Given the description of an element on the screen output the (x, y) to click on. 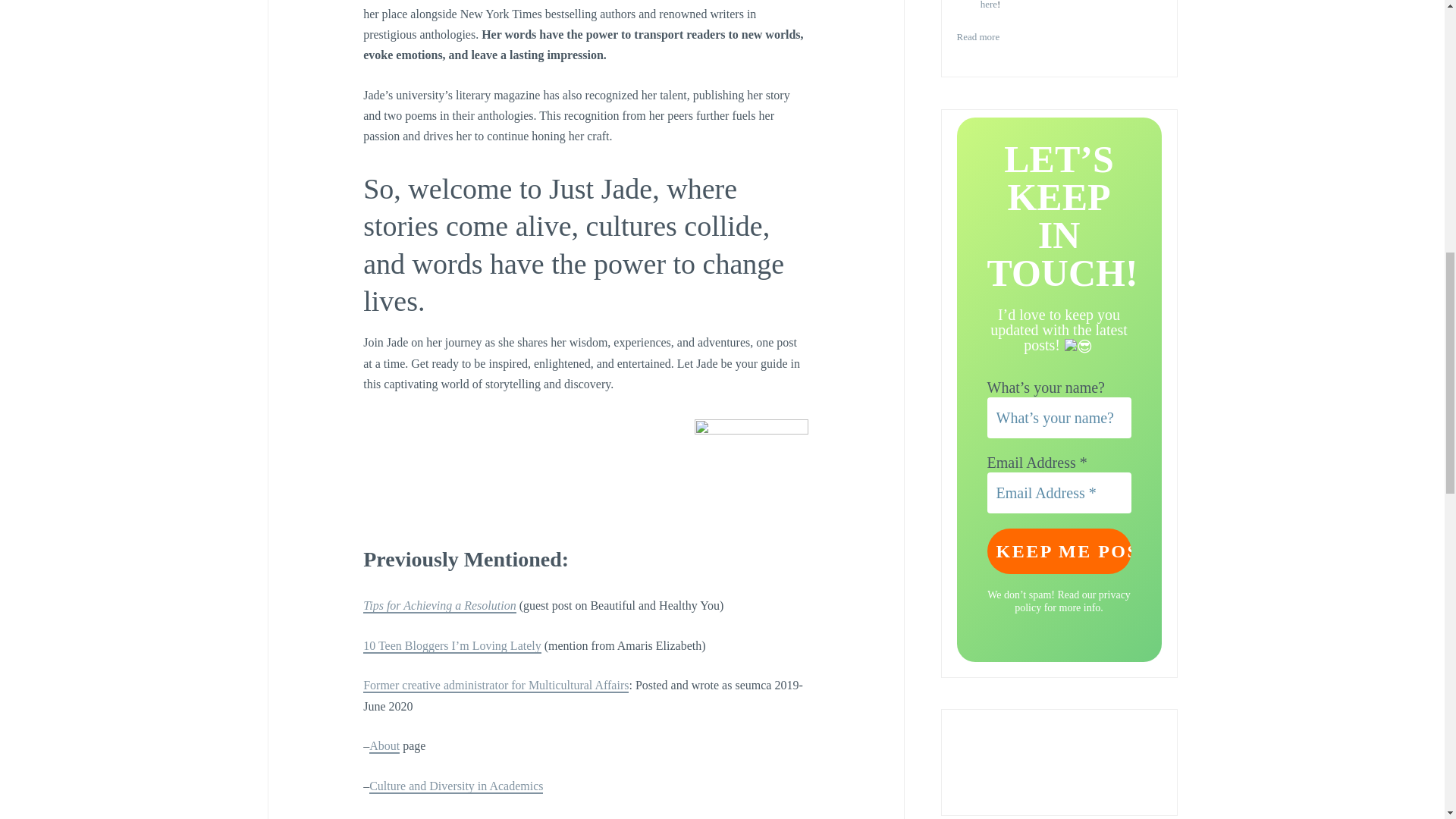
Check out my post here (1064, 5)
Keep me posted! (1059, 551)
Keep me posted! (1059, 551)
Email Address (1059, 492)
Tips for Achieving a Resolution (438, 605)
Former creative administrator for Multicultural Affairs (495, 685)
Culture and Diversity in Academics (456, 786)
Read more (978, 37)
About (383, 746)
